Given the description of an element on the screen output the (x, y) to click on. 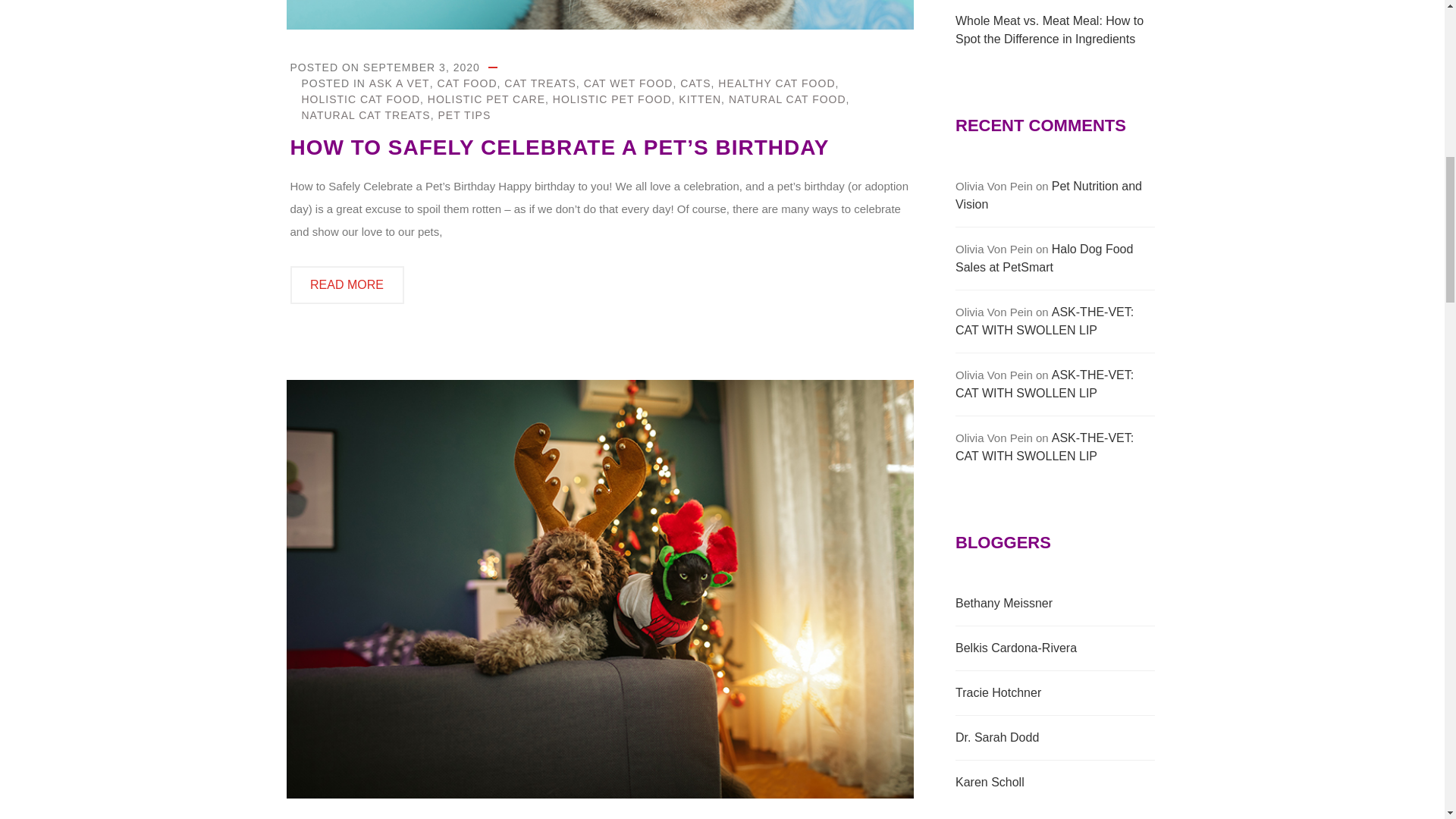
HEALTHY CAT FOOD (775, 83)
CATS (694, 83)
HOLISTIC PET FOOD (612, 99)
HOLISTIC CAT FOOD (360, 99)
CAT TREATS (539, 83)
CAT FOOD (466, 83)
KITTEN (699, 99)
HOLISTIC PET CARE (486, 99)
ASK A VET (399, 83)
CAT WET FOOD (627, 83)
